Given the description of an element on the screen output the (x, y) to click on. 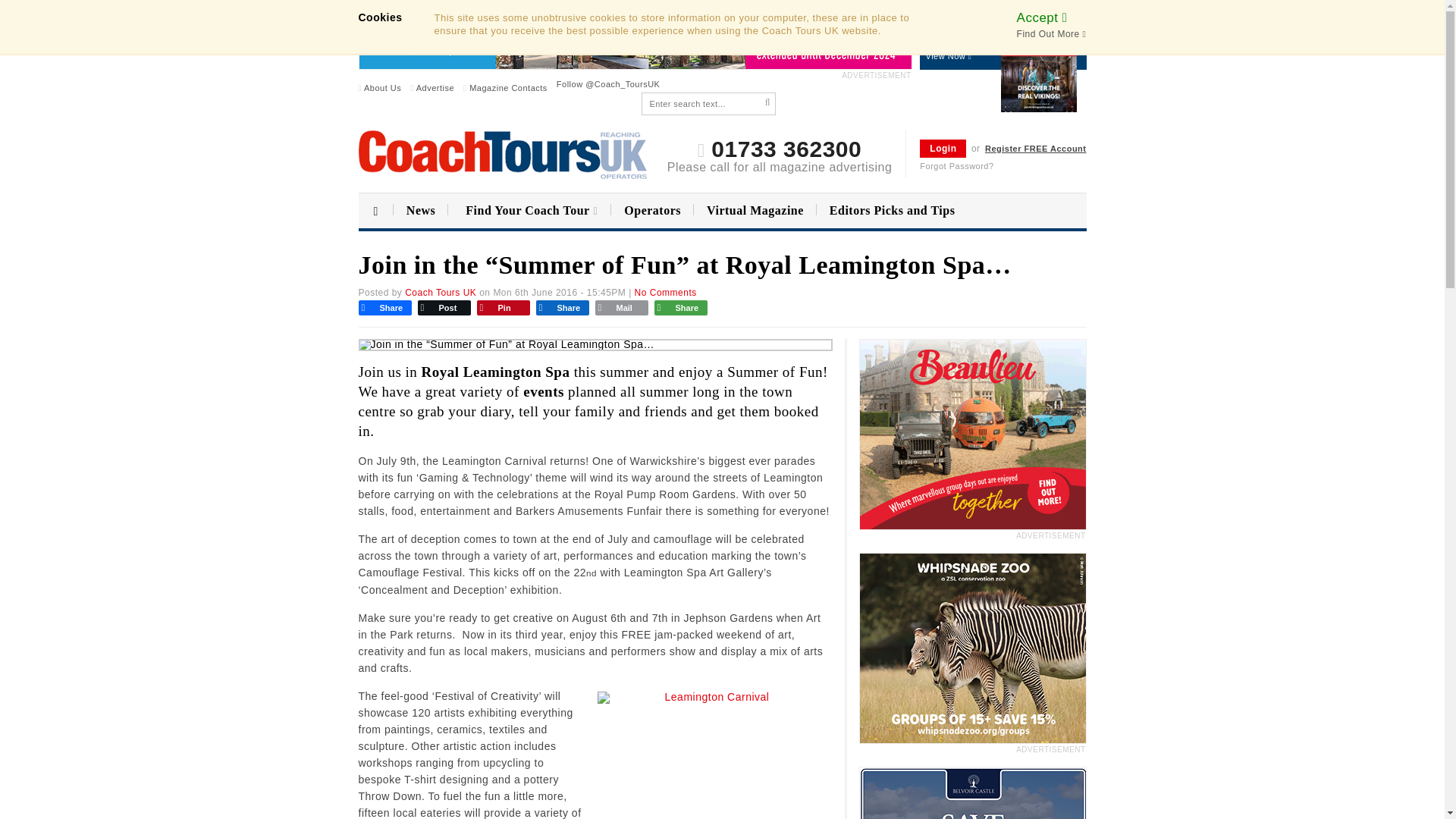
Coach Tours UK (502, 154)
Register FREE Account (1035, 148)
Advertise (432, 87)
About Us (379, 87)
Facebook (384, 306)
Magazine Contacts (505, 87)
View Now (962, 55)
Operators (652, 210)
Forgot Password? (956, 165)
LinkedIn (561, 306)
More Options (680, 306)
Pinterest (502, 306)
News (420, 210)
Coach Tours UK (440, 292)
Find Your Coach Tour (529, 210)
